Given the description of an element on the screen output the (x, y) to click on. 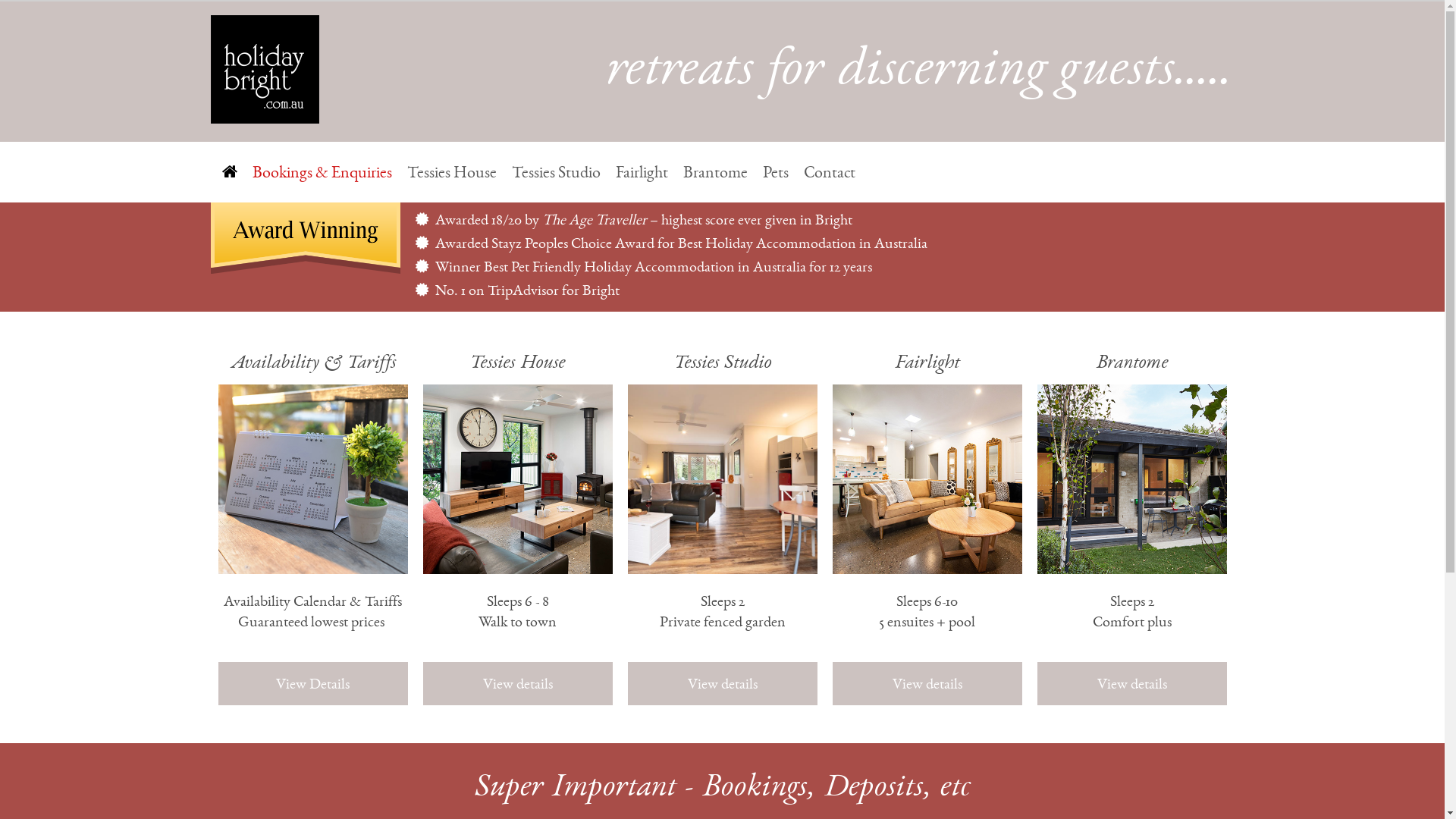
Brantome Element type: text (714, 171)
View Details Element type: text (312, 683)
View details Element type: text (517, 683)
Home Element type: text (227, 171)
Tessies Studio Element type: text (555, 171)
Bookings & Enquiries Element type: text (321, 171)
Contact Element type: text (829, 171)
View details Element type: text (722, 683)
View details Element type: text (1131, 683)
Fairlight Element type: text (641, 171)
Tessies House Element type: text (450, 171)
Pets Element type: text (775, 171)
View details Element type: text (927, 683)
